Given the description of an element on the screen output the (x, y) to click on. 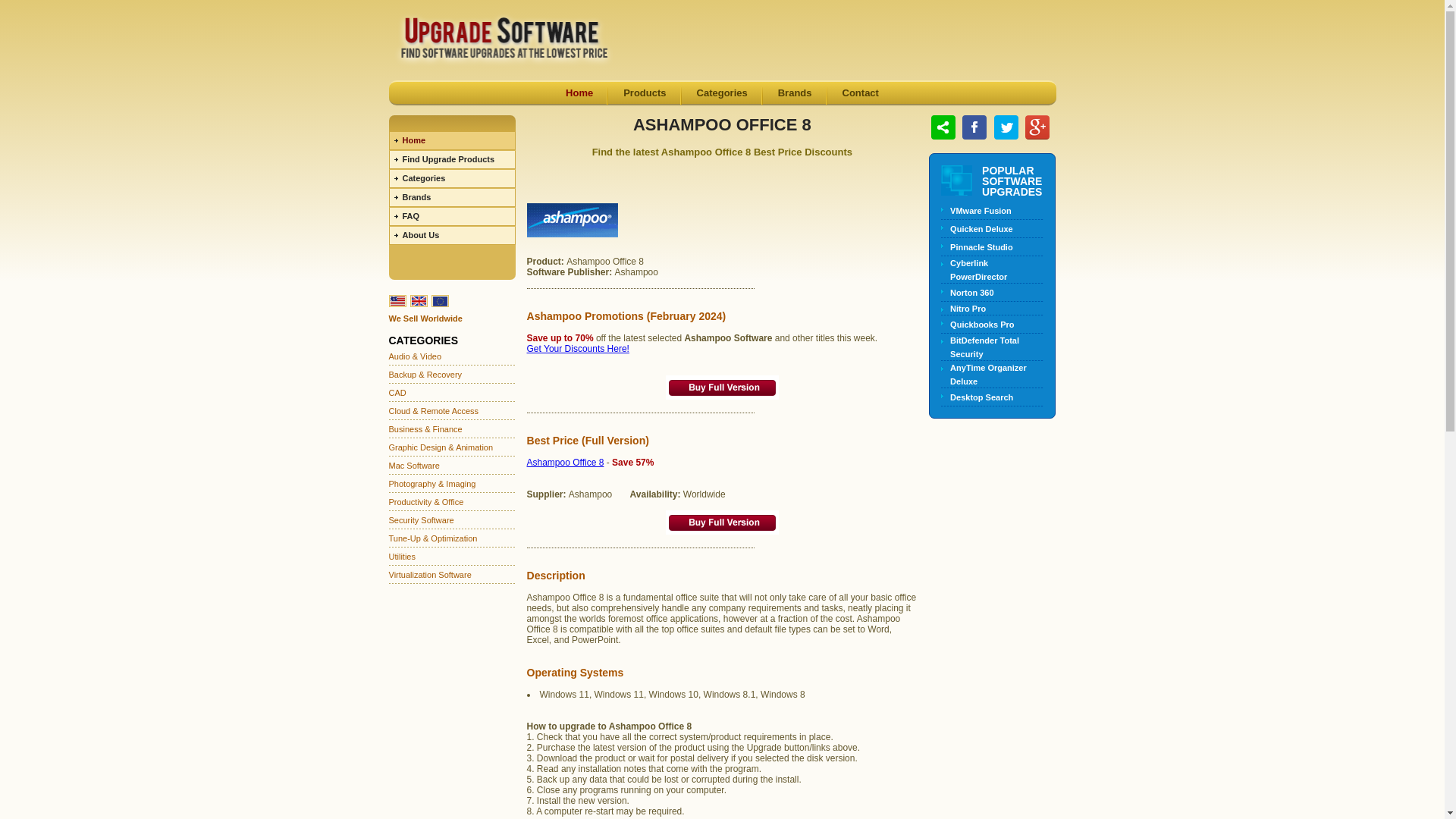
Contact (861, 92)
Home (579, 92)
Upgrade Products (452, 159)
Utilities (401, 556)
Contact (861, 92)
Security Software (420, 519)
About Us (452, 235)
Products (644, 92)
Brands (452, 197)
FAQ (452, 216)
